Given the description of an element on the screen output the (x, y) to click on. 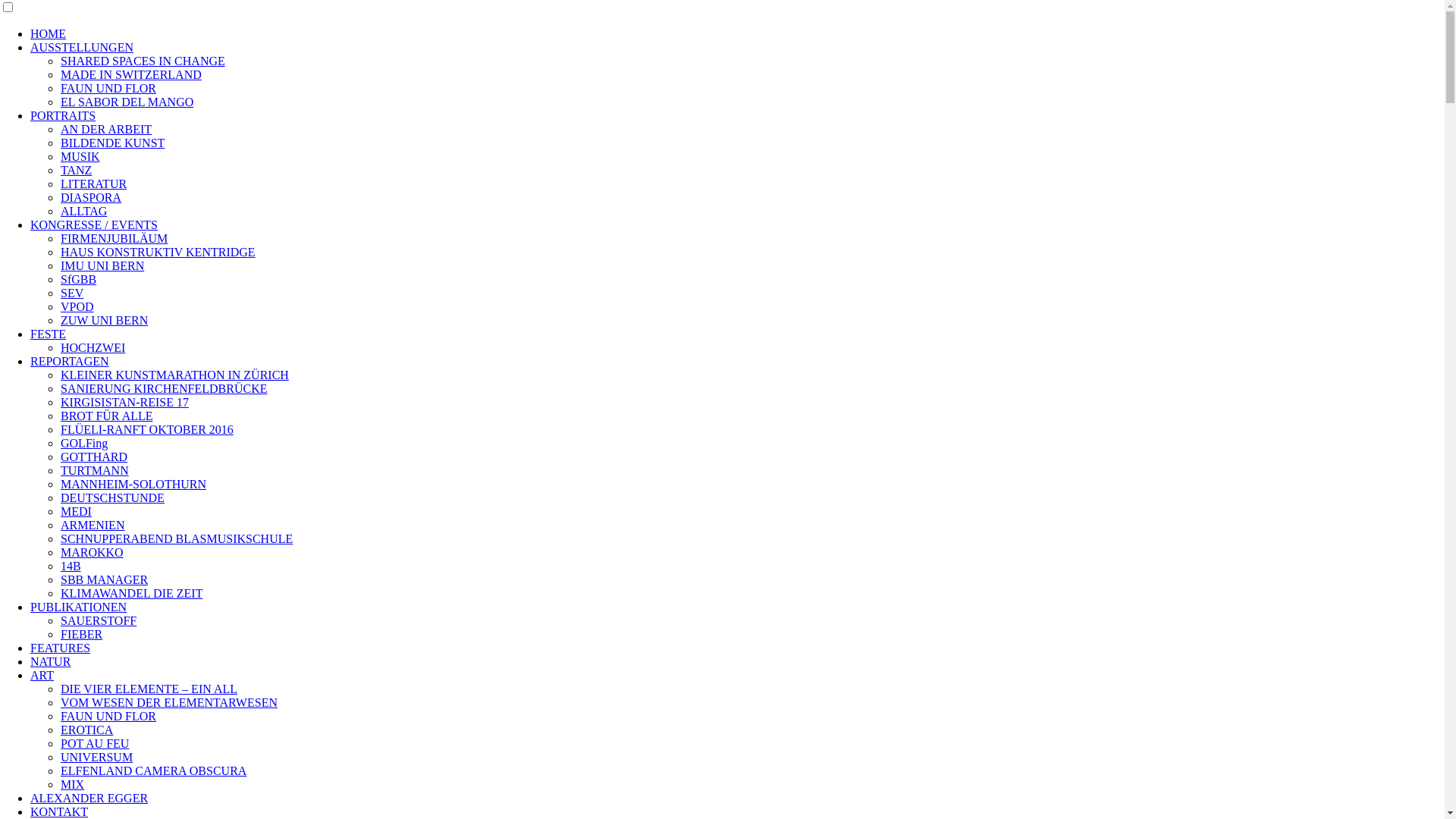
EL SABOR DEL MANGO Element type: text (126, 101)
GOLFing Element type: text (83, 442)
UNIVERSUM Element type: text (96, 756)
DEUTSCHSTUNDE Element type: text (112, 497)
MUSIK Element type: text (80, 156)
BILDENDE KUNST Element type: text (112, 142)
FAUN UND FLOR Element type: text (108, 715)
ARMENIEN Element type: text (92, 524)
SfGBB Element type: text (78, 279)
SCHNUPPERABEND BLASMUSIKSCHULE Element type: text (176, 538)
SAUERSTOFF Element type: text (98, 620)
FIEBER Element type: text (81, 633)
TURTMANN Element type: text (94, 470)
ELFENLAND CAMERA OBSCURA Element type: text (153, 770)
ALEXANDER EGGER Element type: text (88, 797)
PORTRAITS Element type: text (62, 115)
14B Element type: text (70, 565)
AUSSTELLUNGEN Element type: text (81, 46)
HOCHZWEI Element type: text (92, 347)
HOME Element type: text (47, 33)
DIASPORA Element type: text (90, 197)
VOM WESEN DER ELEMENTARWESEN Element type: text (168, 702)
SEV Element type: text (71, 292)
GOTTHARD Element type: text (93, 456)
PUBLIKATIONEN Element type: text (78, 606)
EROTICA Element type: text (86, 729)
NATUR Element type: text (50, 661)
MANNHEIM-SOLOTHURN Element type: text (133, 483)
MIX Element type: text (72, 784)
MEDI Element type: text (75, 511)
ART Element type: text (41, 674)
MADE IN SWITZERLAND Element type: text (130, 74)
AN DER ARBEIT Element type: text (105, 128)
FEATURES Element type: text (60, 647)
KIRGISISTAN-REISE 17 Element type: text (124, 401)
ZUW UNI BERN Element type: text (103, 319)
MAROKKO Element type: text (91, 552)
FAUN UND FLOR Element type: text (108, 87)
KONTAKT Element type: text (58, 811)
HAUS KONSTRUKTIV KENTRIDGE Element type: text (157, 251)
FESTE Element type: text (47, 333)
VPOD Element type: text (77, 306)
ALLTAG Element type: text (83, 210)
LITERATUR Element type: text (93, 183)
KONGRESSE / EVENTS Element type: text (93, 224)
TANZ Element type: text (75, 169)
SHARED SPACES IN CHANGE Element type: text (142, 60)
KLIMAWANDEL DIE ZEIT Element type: text (131, 592)
POT AU FEU Element type: text (94, 743)
REPORTAGEN Element type: text (69, 360)
SBB MANAGER Element type: text (103, 579)
IMU UNI BERN Element type: text (102, 265)
